Given the description of an element on the screen output the (x, y) to click on. 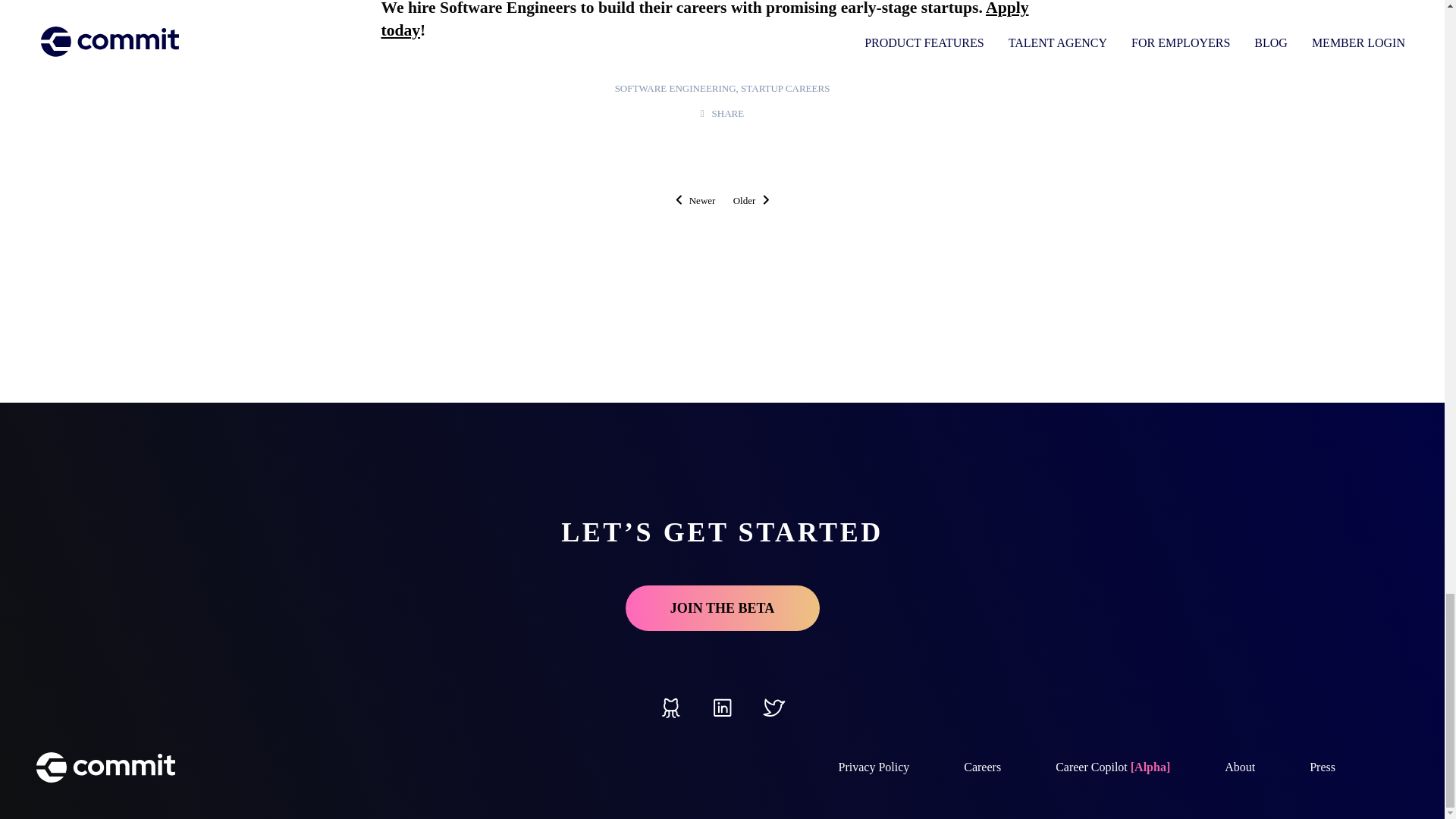
About (1239, 767)
STARTUP CAREERS (785, 88)
JOIN THE BETA (721, 607)
Careers (982, 767)
Older (751, 200)
Newer (695, 200)
SHARE (722, 112)
Apply today (703, 19)
Privacy Policy (874, 767)
SOFTWARE ENGINEERING (675, 88)
